Given the description of an element on the screen output the (x, y) to click on. 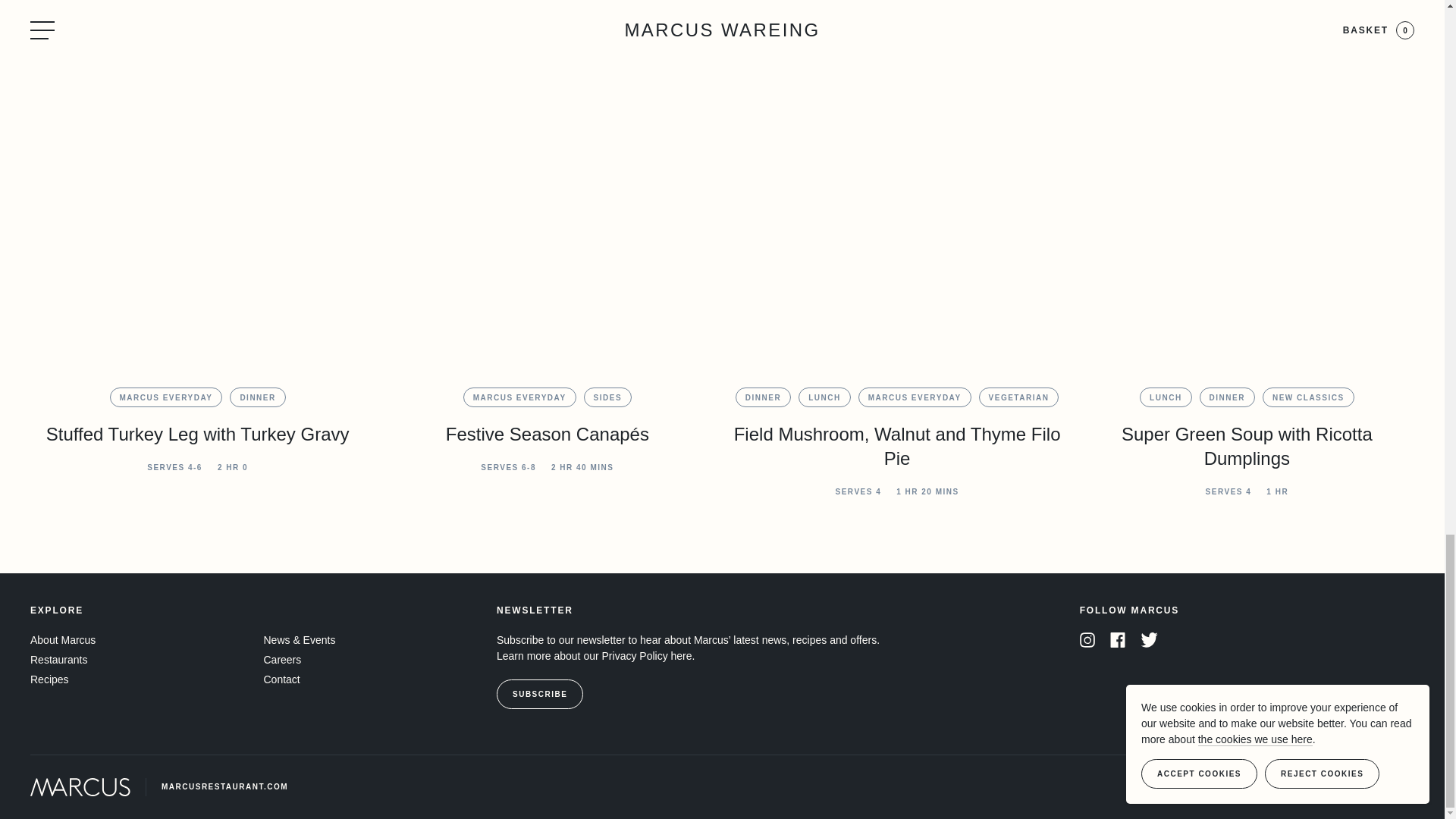
Contact (281, 679)
CREDITS (1255, 786)
Careers (282, 659)
PRIVACY POLICY (1181, 786)
Restaurants (58, 659)
Recipes (49, 679)
SUBSCRIBE (539, 694)
Learn more about our Privacy Policy here (594, 655)
About Marcus (63, 640)
MARCUSRESTAURANT.COM (159, 787)
